Given the description of an element on the screen output the (x, y) to click on. 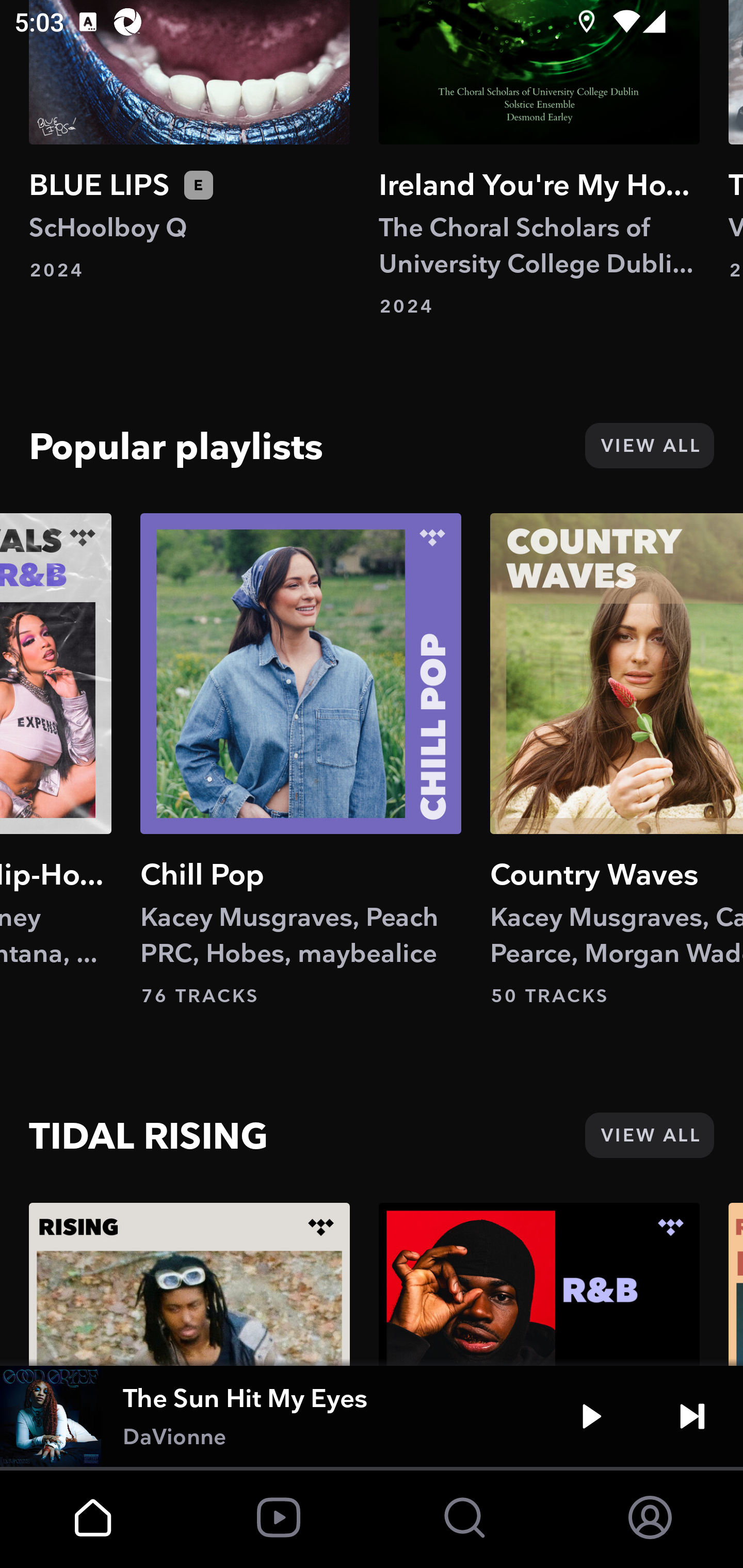
BLUE LIPS ScHoolboy Q 2024 (188, 141)
VIEW ALL (649, 445)
VIEW ALL (649, 1135)
The Sun Hit My Eyes DaVionne Play (371, 1416)
Play (590, 1416)
